Given the description of an element on the screen output the (x, y) to click on. 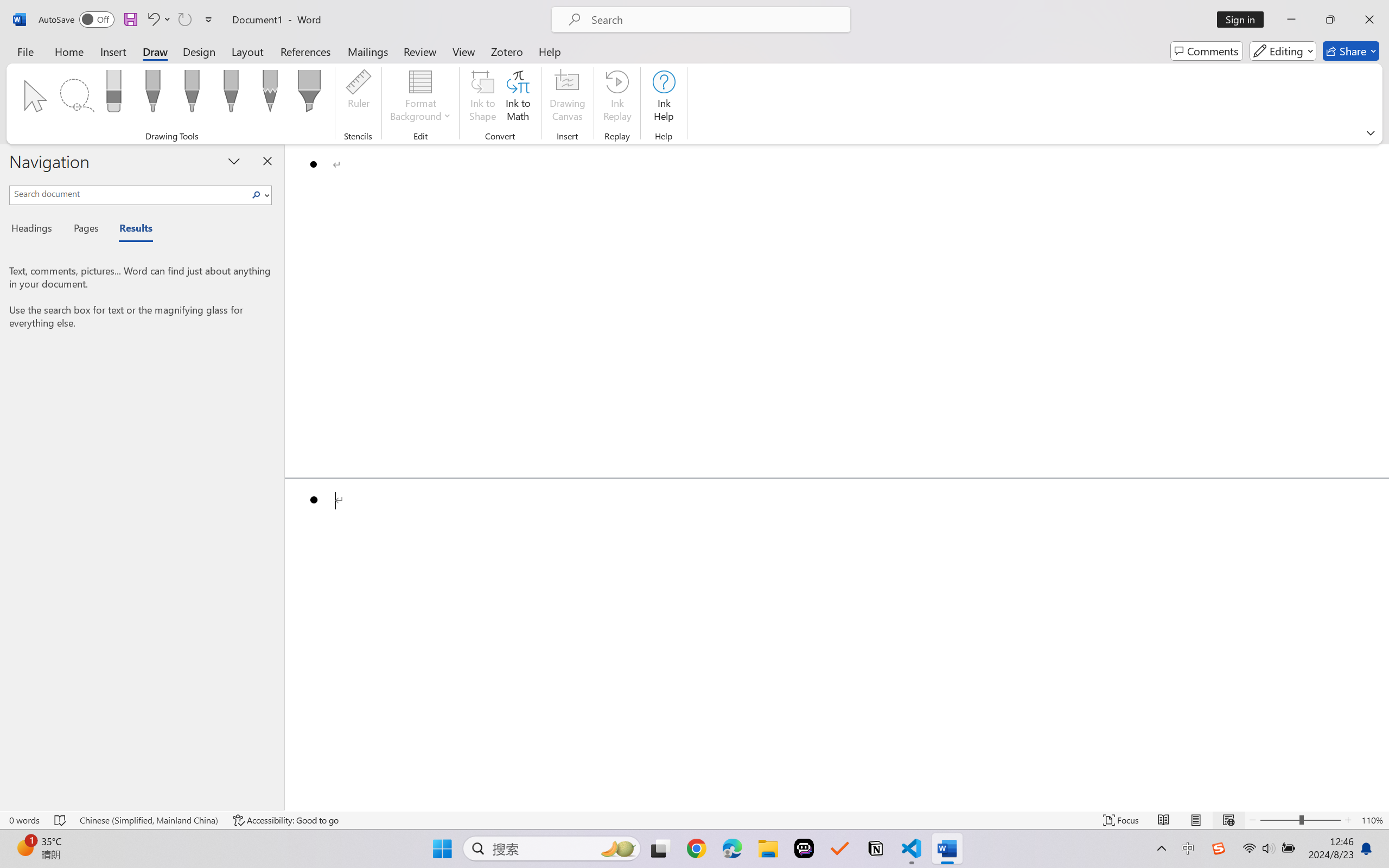
Headings (35, 229)
Drawing Canvas (567, 97)
